Given the description of an element on the screen output the (x, y) to click on. 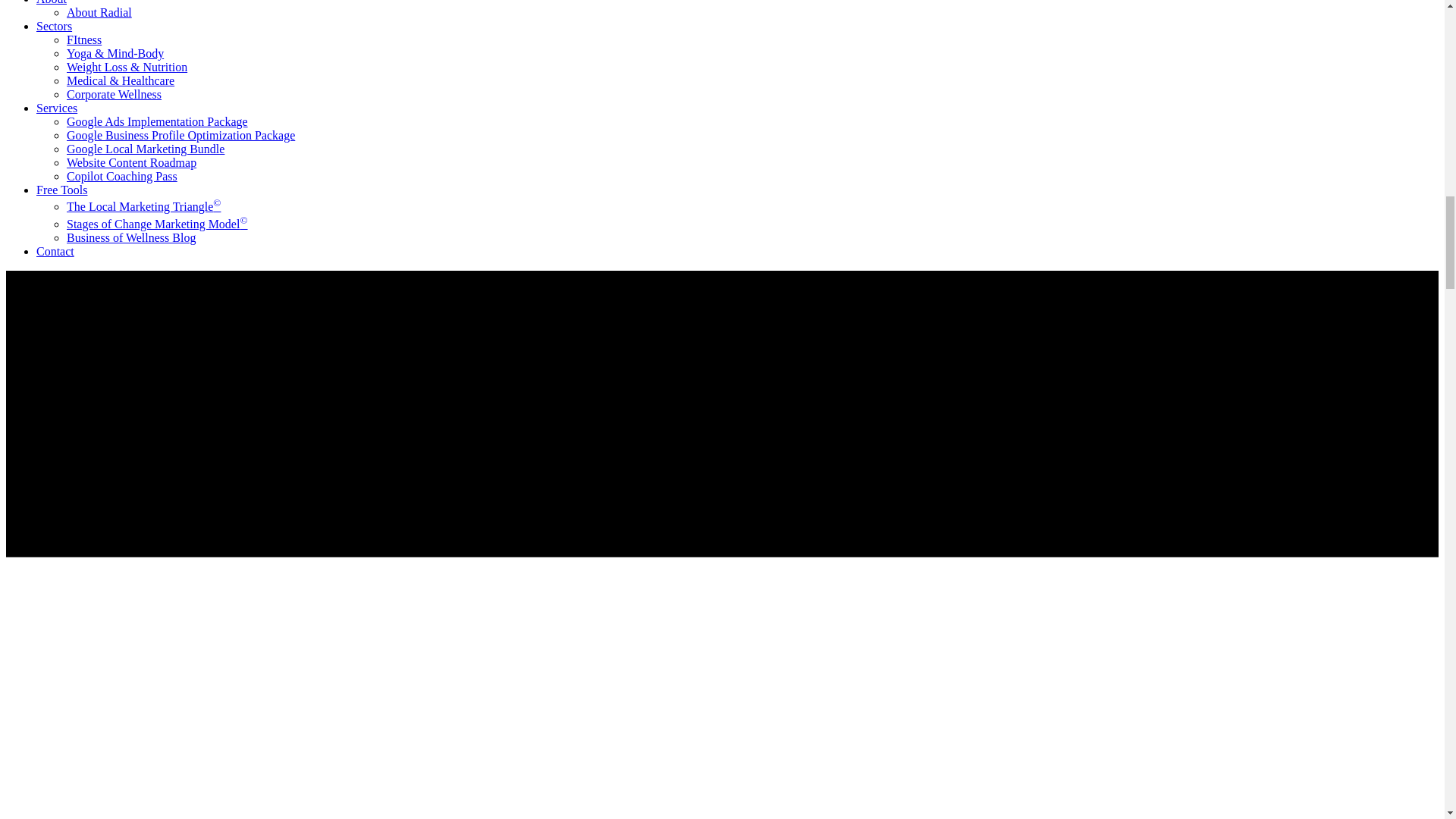
Google Business Profile Optimization Package (180, 134)
Website Content Roadmap (131, 162)
Google Local Marketing Bundle (145, 148)
FItness (83, 39)
Copilot Coaching Pass (121, 175)
Business of Wellness Blog (130, 237)
Services (56, 107)
Contact (55, 250)
Corporate Wellness (113, 93)
Free Tools (61, 189)
About (51, 2)
About Radial (99, 11)
Google Ads Implementation Package (156, 121)
Sectors (53, 25)
